Given the description of an element on the screen output the (x, y) to click on. 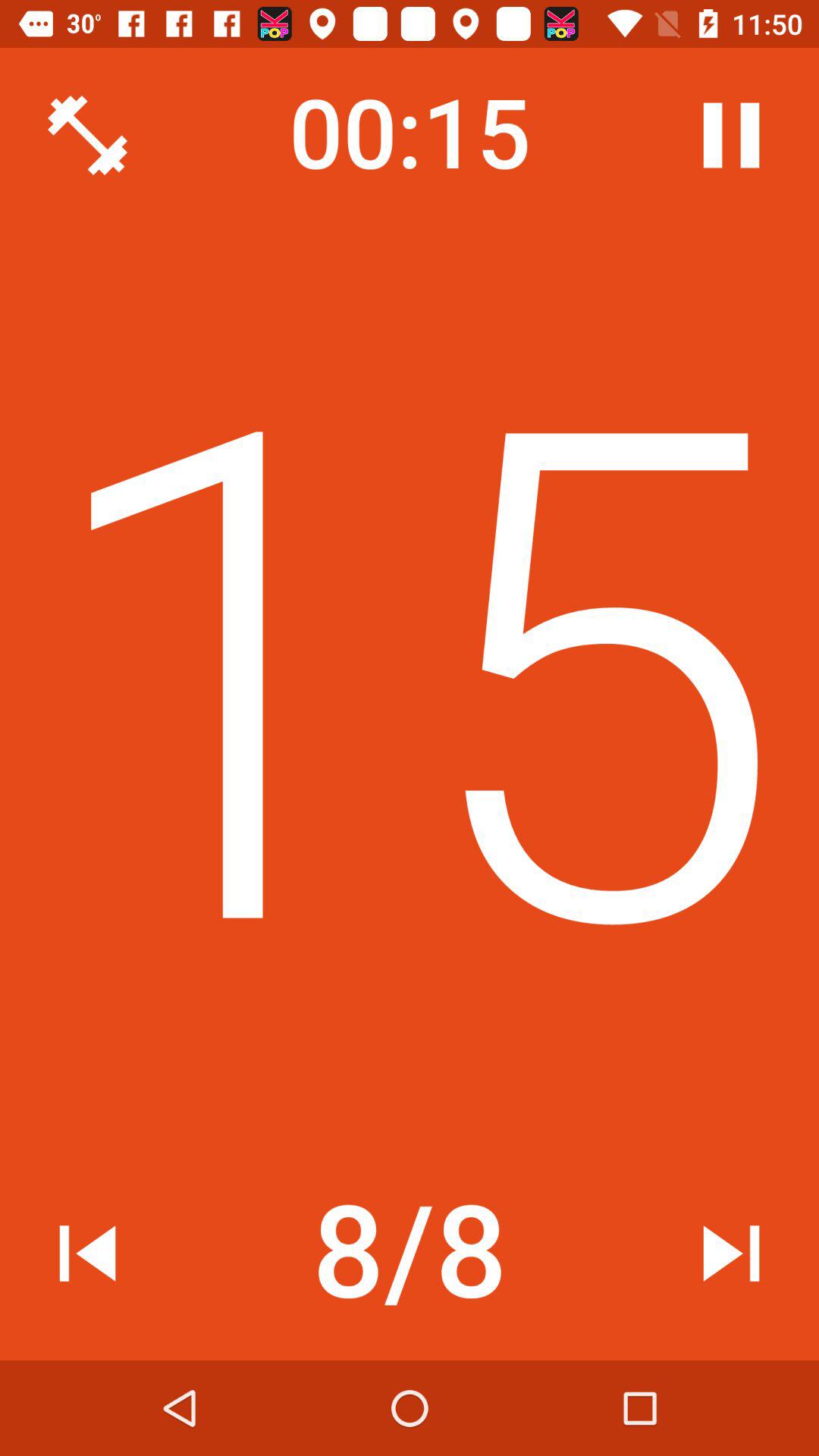
select the item below the 14 (409, 1253)
